Given the description of an element on the screen output the (x, y) to click on. 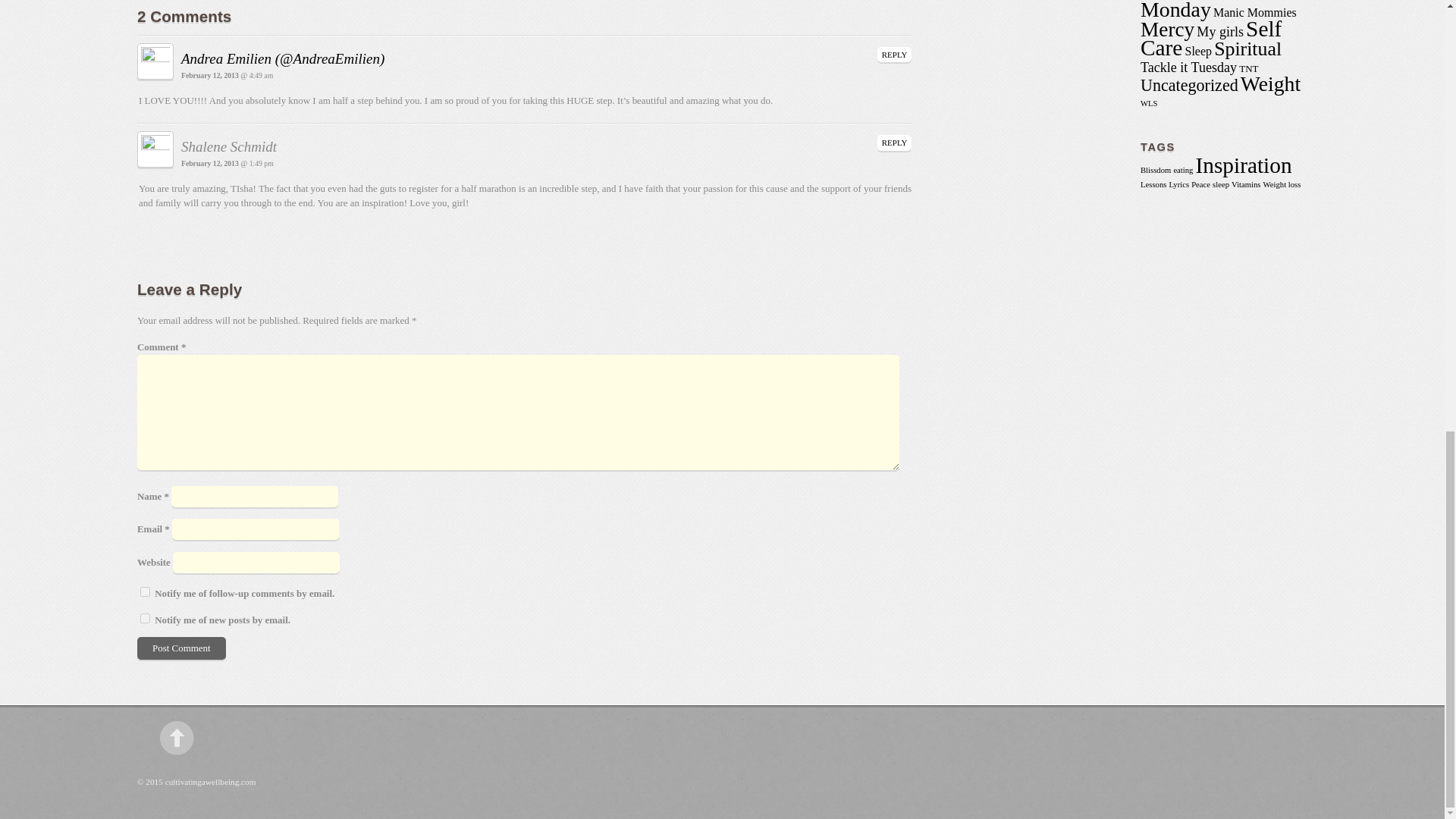
TNT (1248, 68)
REPLY (894, 142)
Sleep (1198, 51)
Self Care (1210, 37)
Weight (1270, 83)
Uncategorized (1189, 85)
Tackle it Tuesday (1188, 67)
REPLY (894, 54)
WLS (1148, 103)
Mercy (1166, 29)
